Given the description of an element on the screen output the (x, y) to click on. 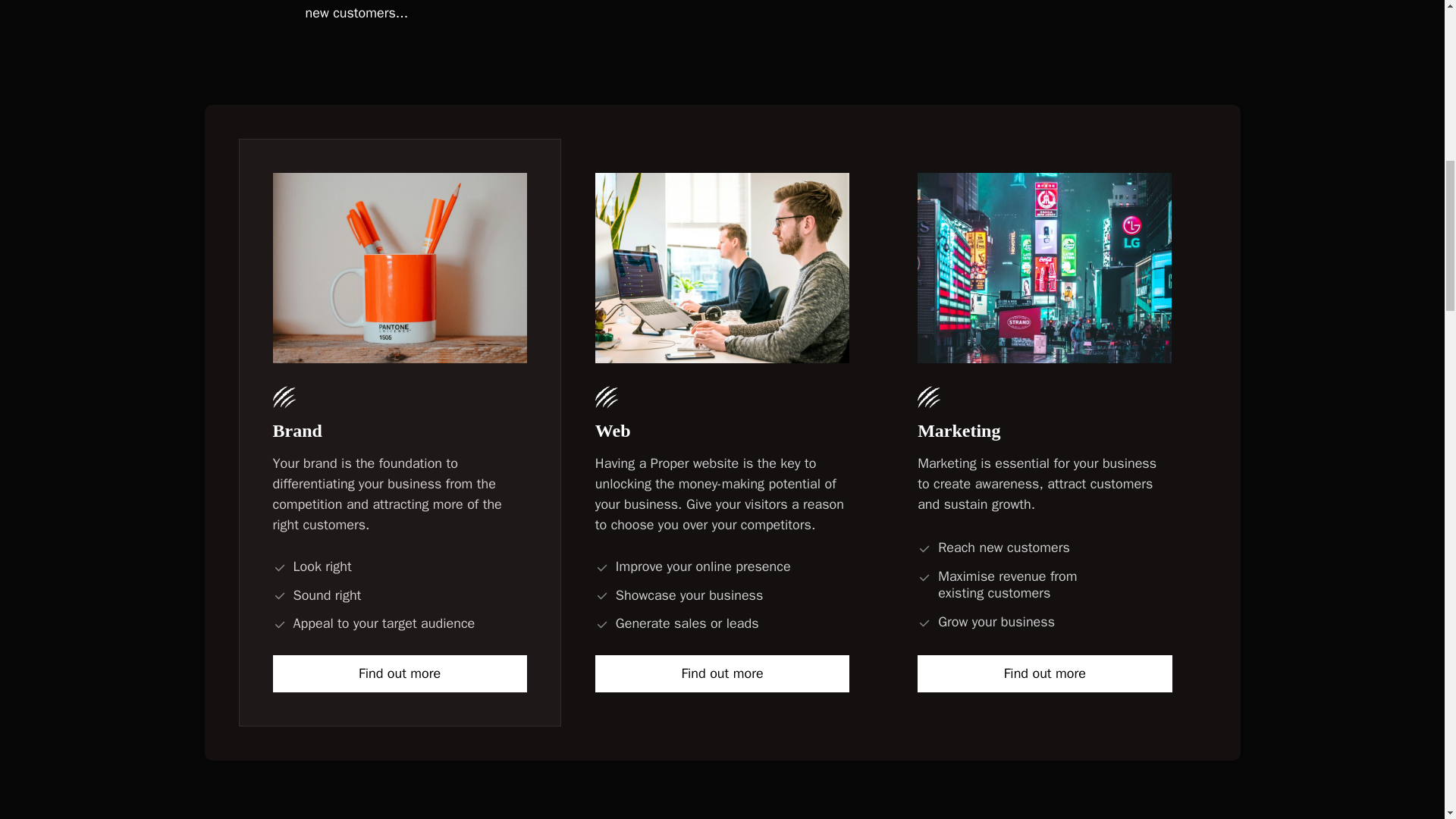
Find out more (400, 673)
Find out more (721, 673)
Find out more (1044, 673)
